Given the description of an element on the screen output the (x, y) to click on. 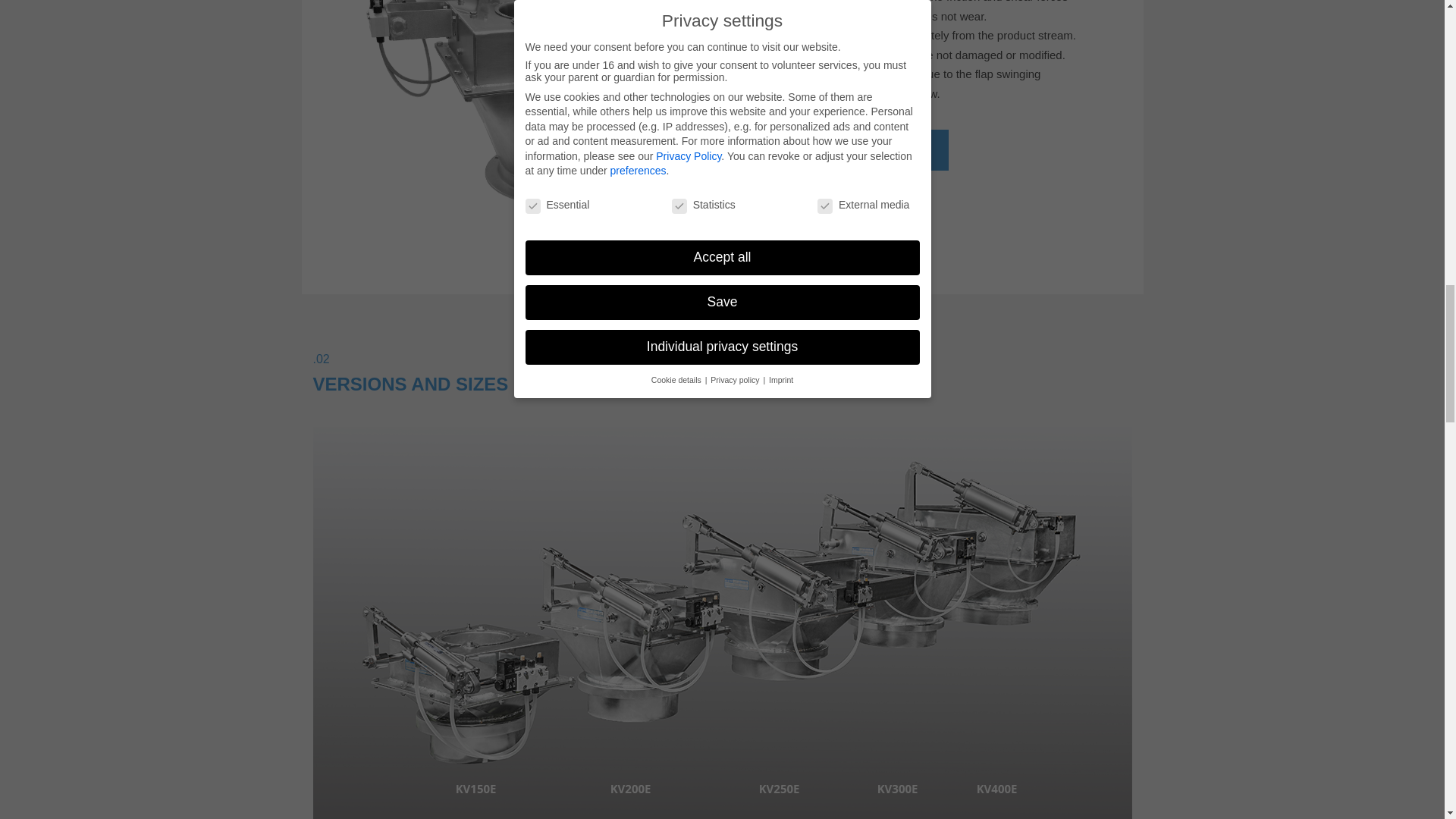
singold-flap-shutter-application (520, 106)
DOWNLOAD BROCHURE (852, 149)
